Given the description of an element on the screen output the (x, y) to click on. 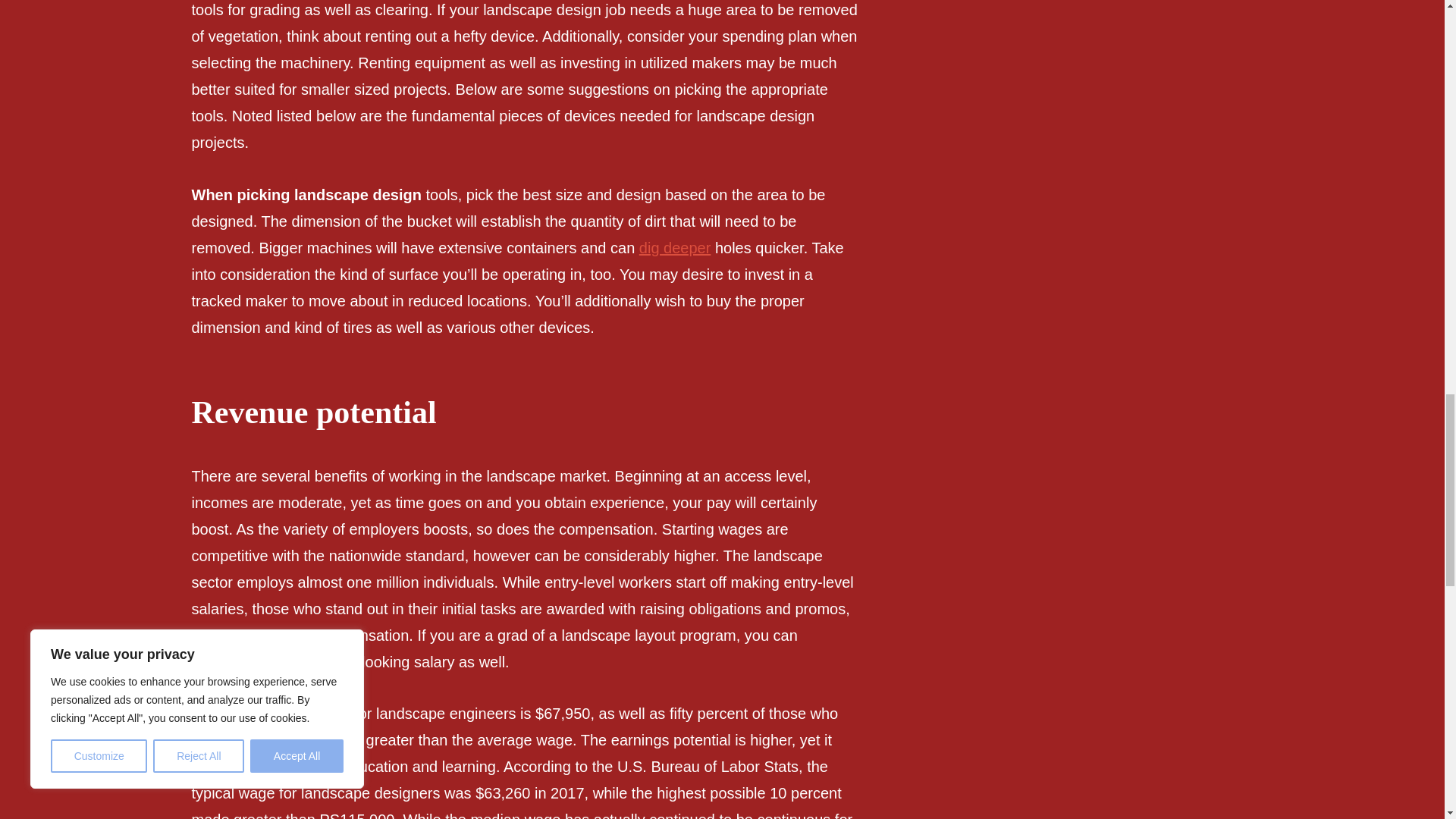
dig deeper (675, 247)
